Given the description of an element on the screen output the (x, y) to click on. 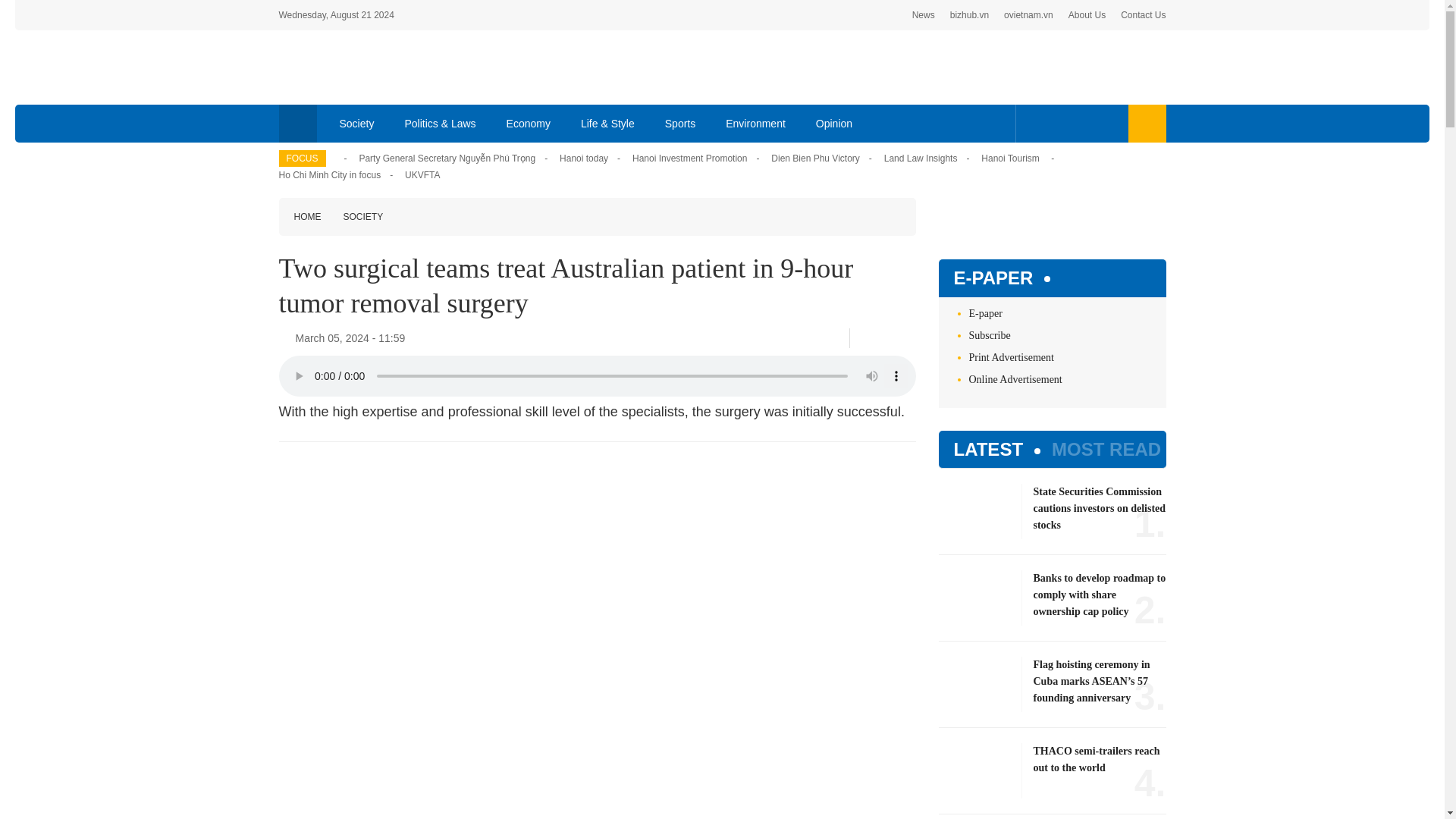
Facebook (1035, 123)
About Us (1086, 15)
Youtube (1081, 122)
Environment (755, 123)
Opinion (833, 123)
Twitter (1056, 122)
Twitter (885, 337)
Email (909, 338)
Sports (679, 123)
News (923, 15)
